Given the description of an element on the screen output the (x, y) to click on. 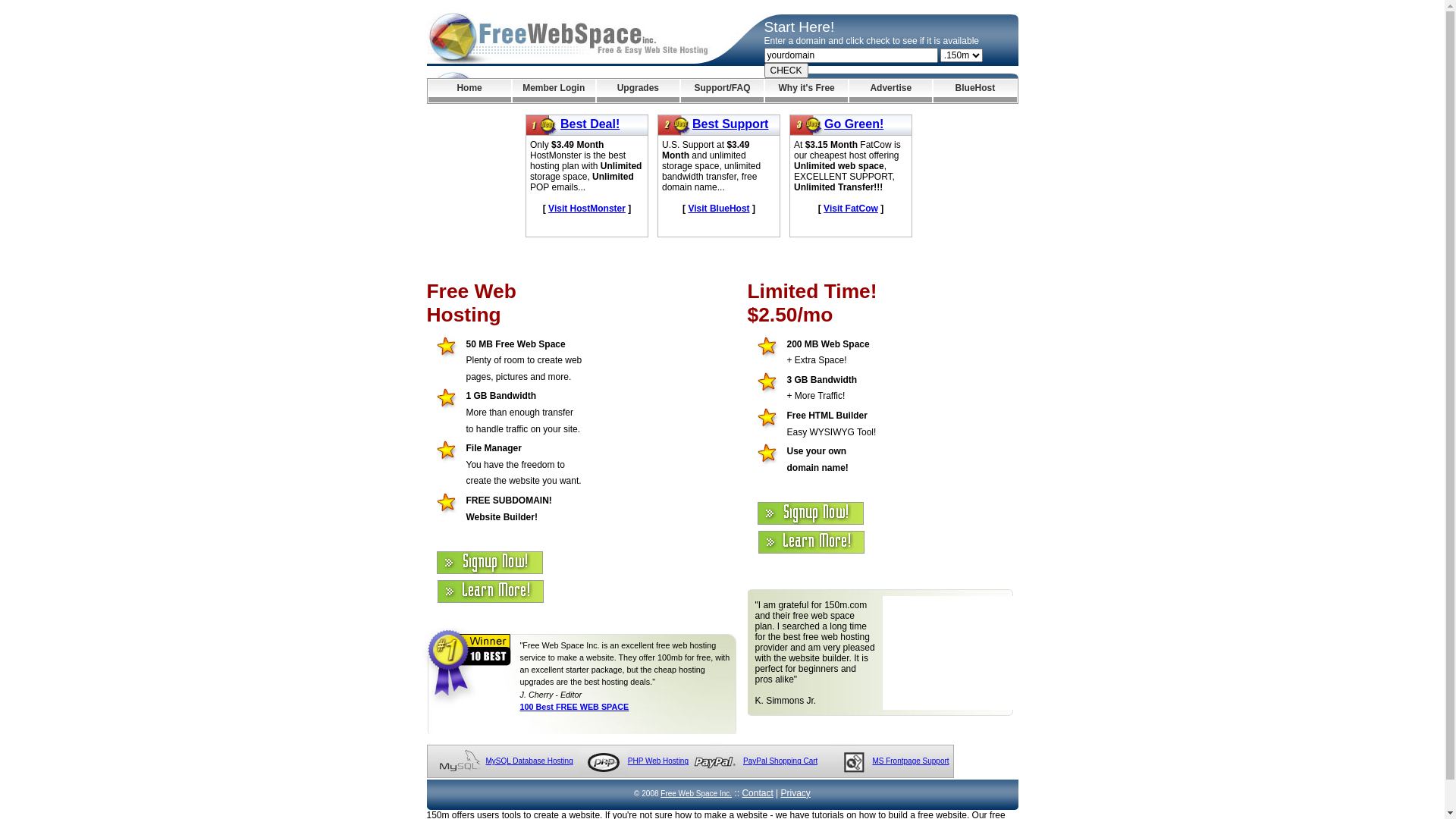
Home Element type: text (468, 90)
BlueHost Element type: text (974, 90)
Advertise Element type: text (890, 90)
PayPal Shopping Cart Element type: text (780, 760)
CHECK Element type: text (786, 70)
Free Web Space Inc. Element type: text (695, 793)
Member Login Element type: text (553, 90)
MySQL Database Hosting Element type: text (528, 760)
Contact Element type: text (756, 792)
Upgrades Element type: text (637, 90)
Privacy Element type: text (795, 792)
PHP Web Hosting Element type: text (657, 760)
Support/FAQ Element type: text (721, 90)
Why it's Free Element type: text (806, 90)
MS Frontpage Support Element type: text (910, 760)
100 Best FREE WEB SPACE Element type: text (574, 706)
